Given the description of an element on the screen output the (x, y) to click on. 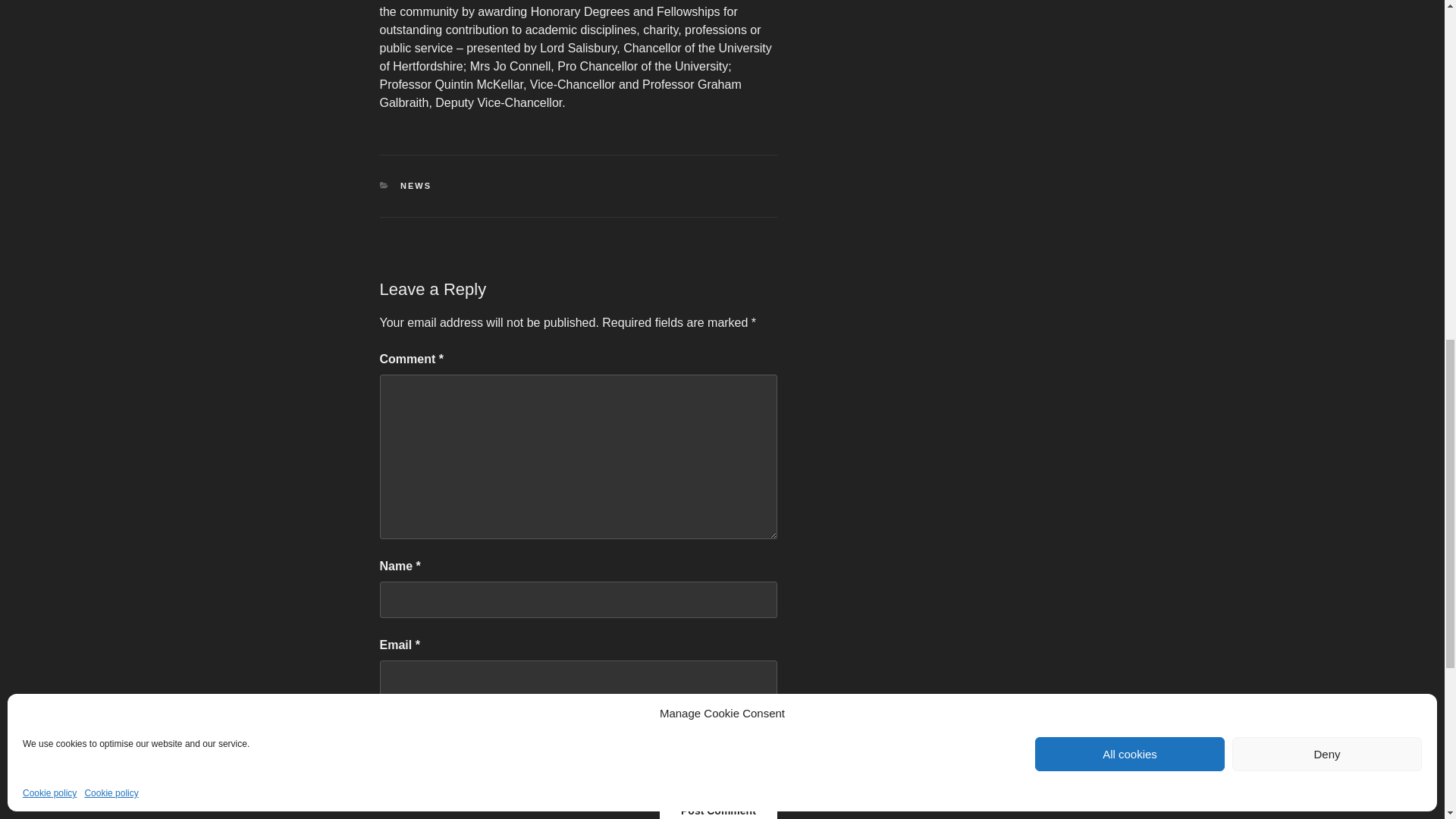
Post Comment (718, 806)
NEWS (415, 185)
Post Comment (718, 806)
